Given the description of an element on the screen output the (x, y) to click on. 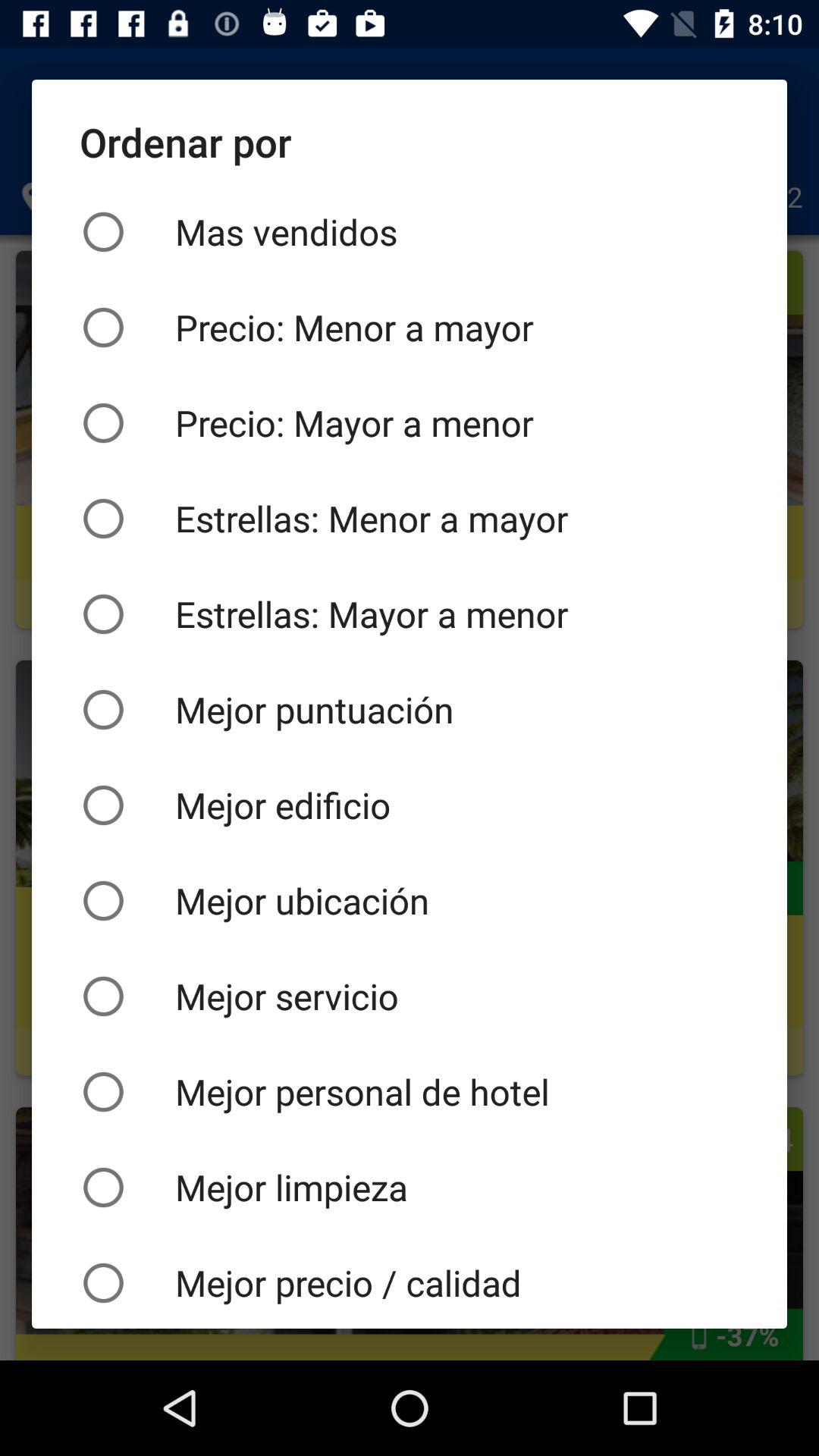
jump to the mejor precio / calidad icon (409, 1281)
